Given the description of an element on the screen output the (x, y) to click on. 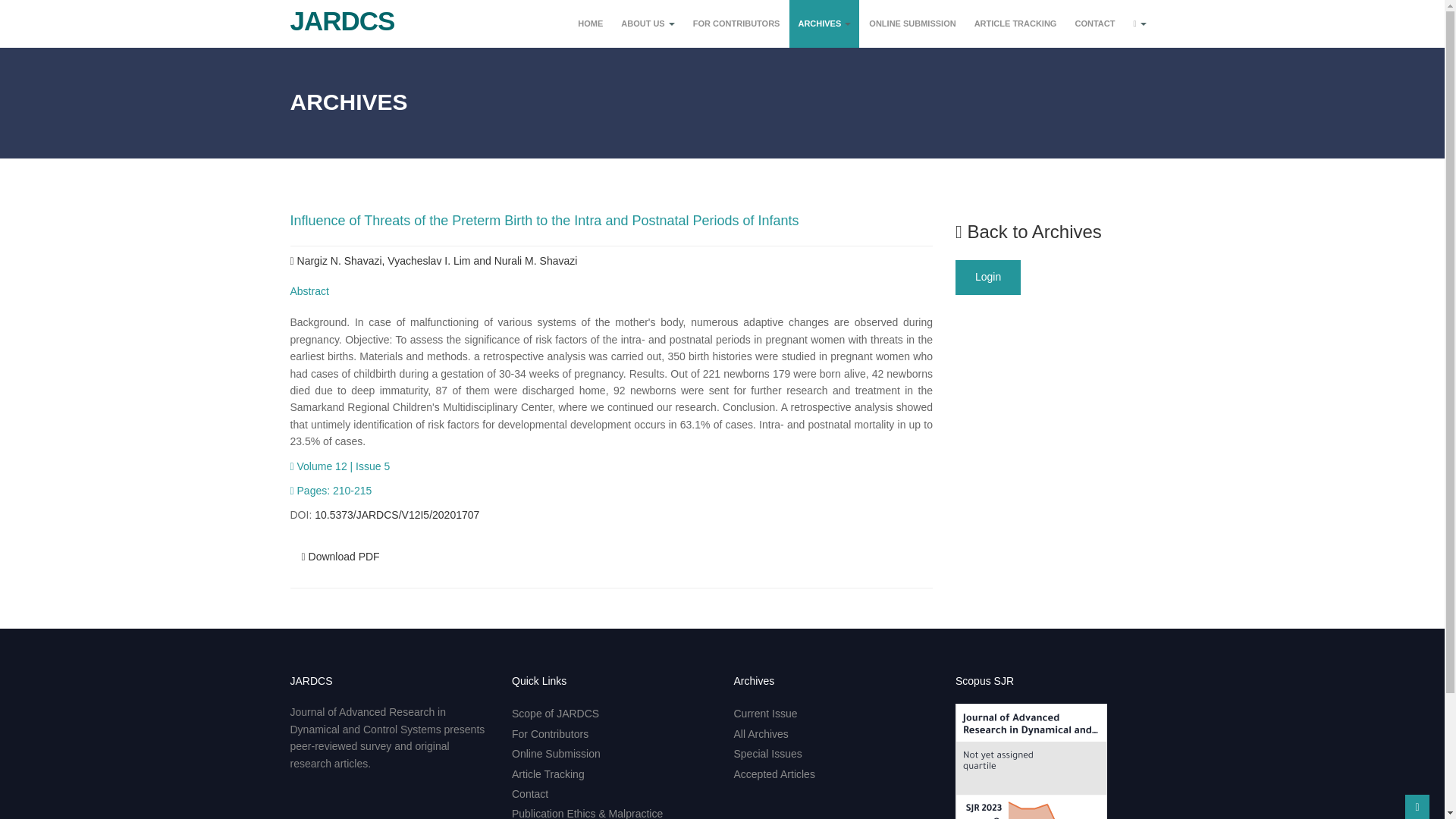
All Archives (761, 734)
Article Tracking (548, 774)
ONLINE SUBMISSION (911, 23)
Scope of JARDCS (555, 713)
For Contributors (550, 734)
JARDCS (336, 14)
ABOUT US (647, 23)
Online Submission (555, 753)
CONTACT (1093, 23)
Special Issues (767, 753)
